Given the description of an element on the screen output the (x, y) to click on. 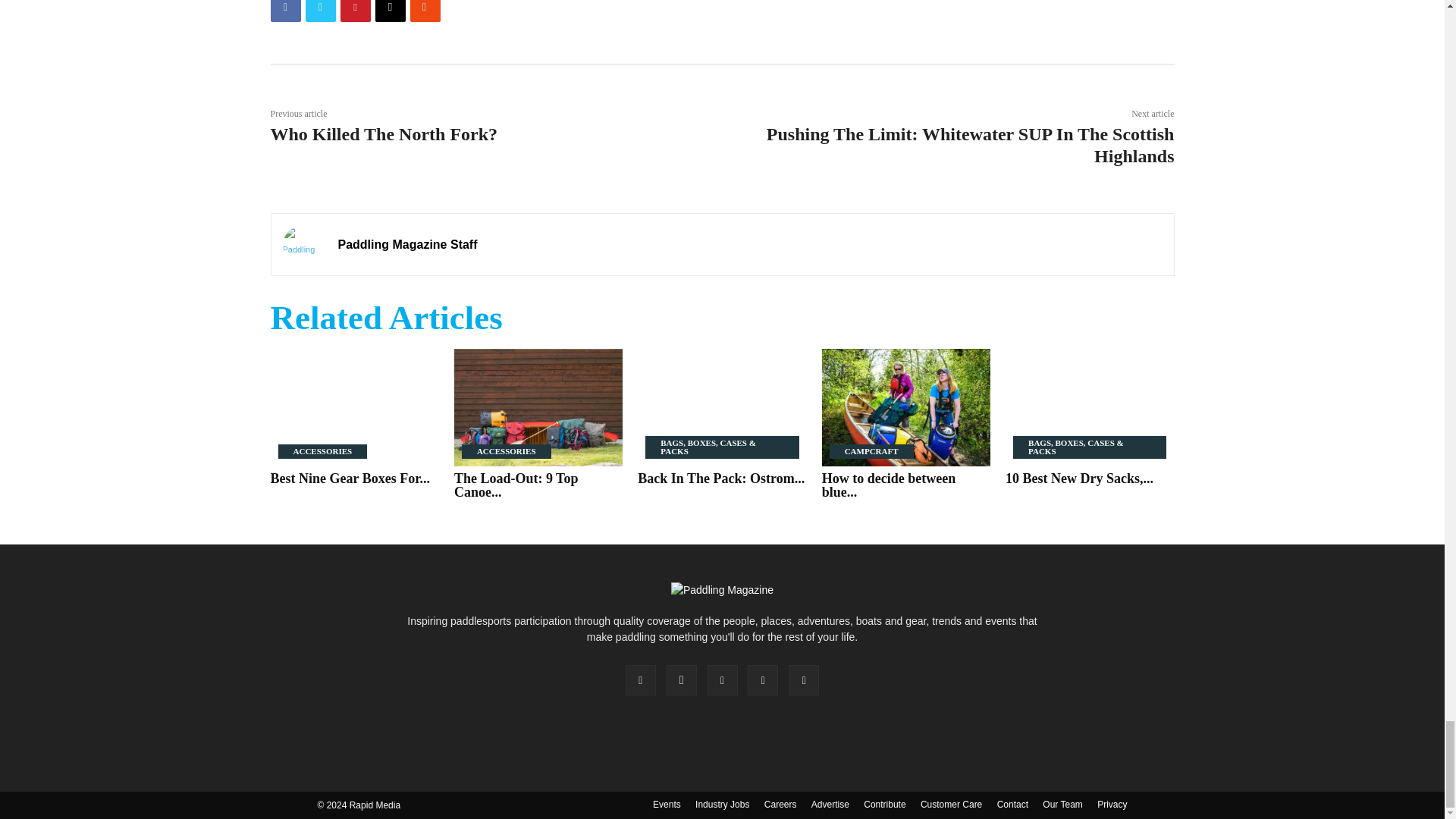
Facebook (284, 11)
Pinterest (354, 11)
Twitter (319, 11)
Email (389, 11)
Mix (424, 11)
